Given the description of an element on the screen output the (x, y) to click on. 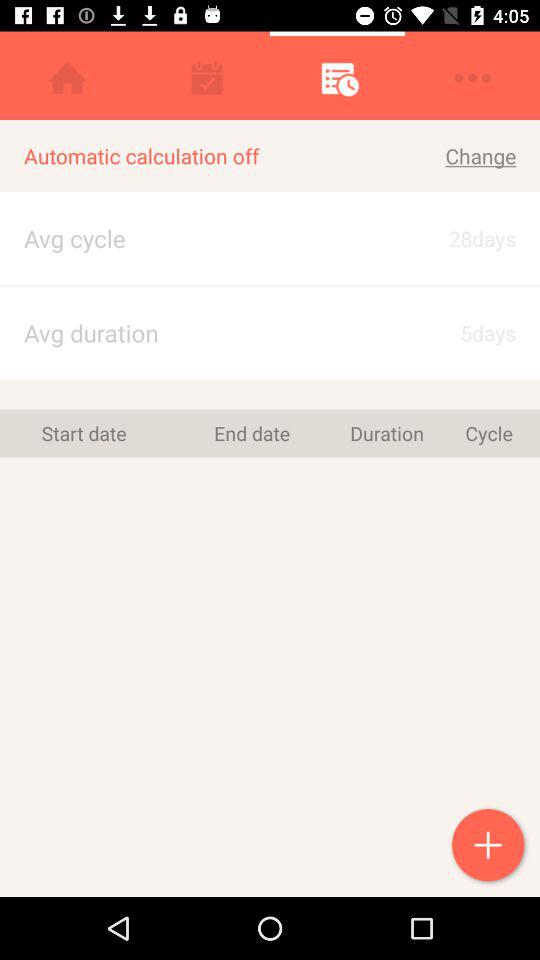
turn on app next to the change item (189, 238)
